Given the description of an element on the screen output the (x, y) to click on. 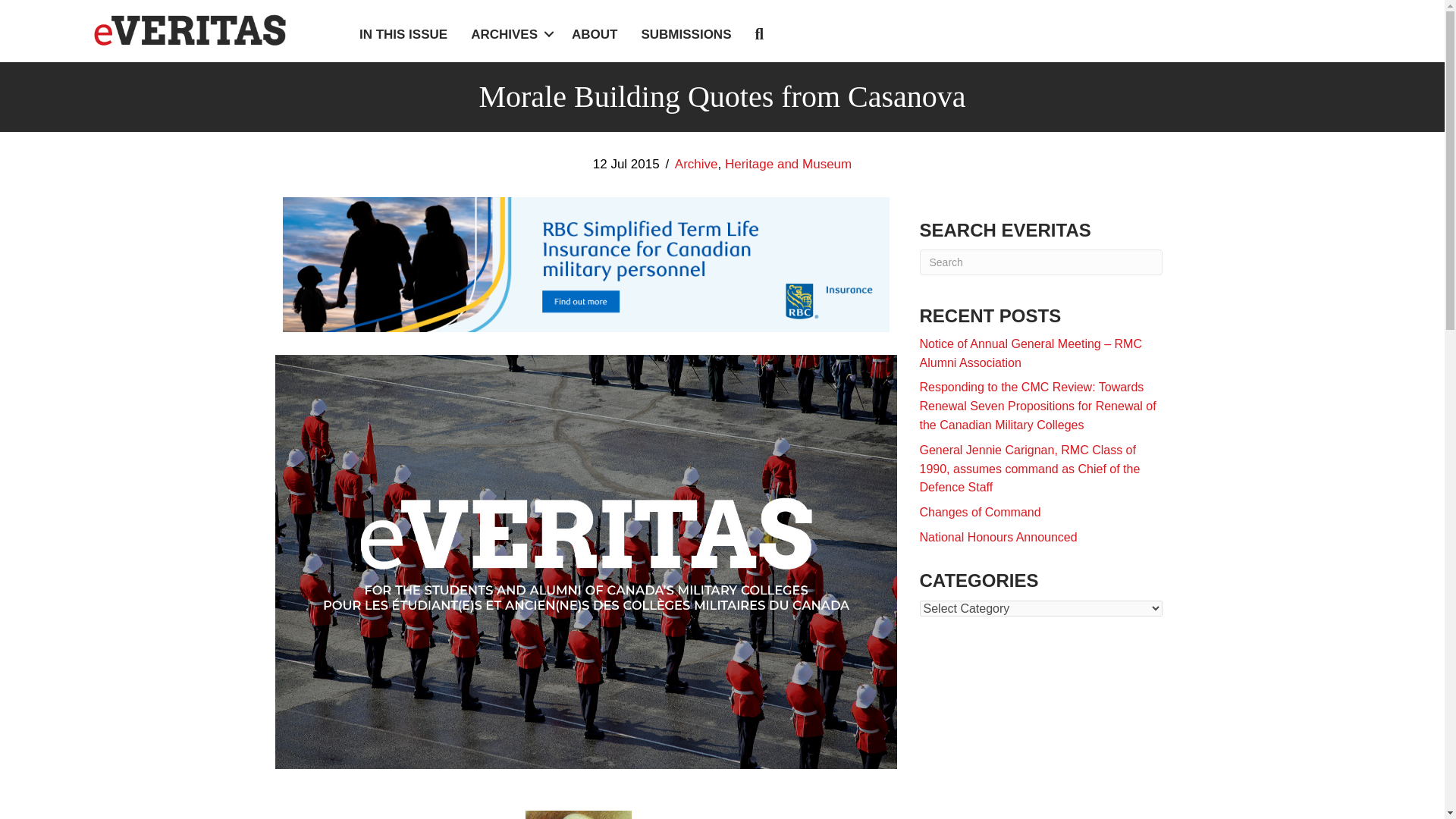
National Honours Announced (997, 536)
SEARCH (761, 34)
Changes of Command (979, 512)
Type and press Enter to search. (1039, 262)
Archive (696, 164)
SUBMISSIONS (685, 34)
ABOUT (594, 34)
ARCHIVES (509, 34)
Heritage and Museum (788, 164)
IN THIS ISSUE (402, 34)
